Given the description of an element on the screen output the (x, y) to click on. 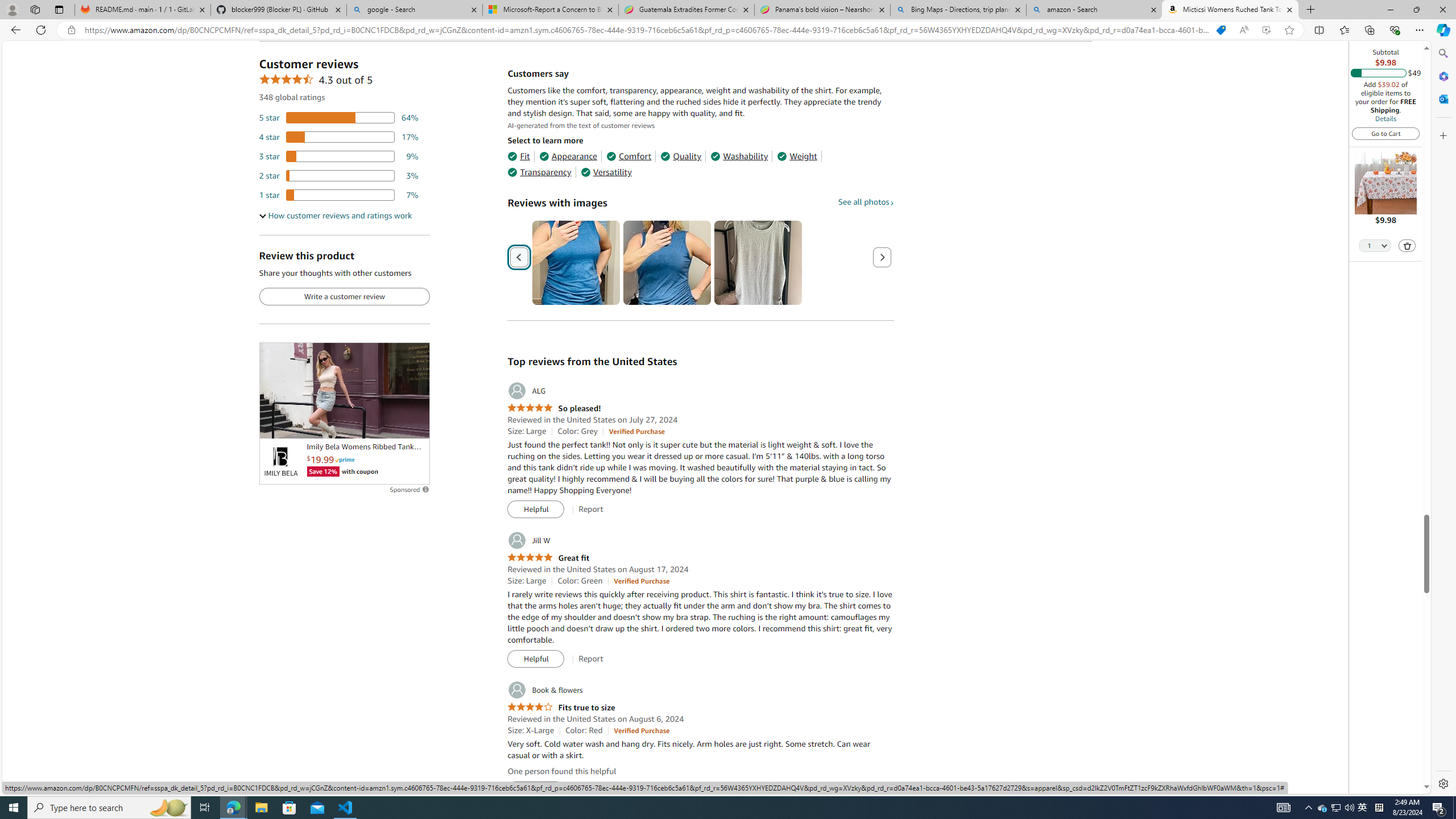
Unmute (414, 424)
amazon - Search (1094, 9)
4.0 out of 5 stars Fits true to size (560, 707)
Next page (882, 256)
Report (590, 790)
See all photos (865, 201)
17 percent of reviews have 4 stars (339, 137)
